Given the description of an element on the screen output the (x, y) to click on. 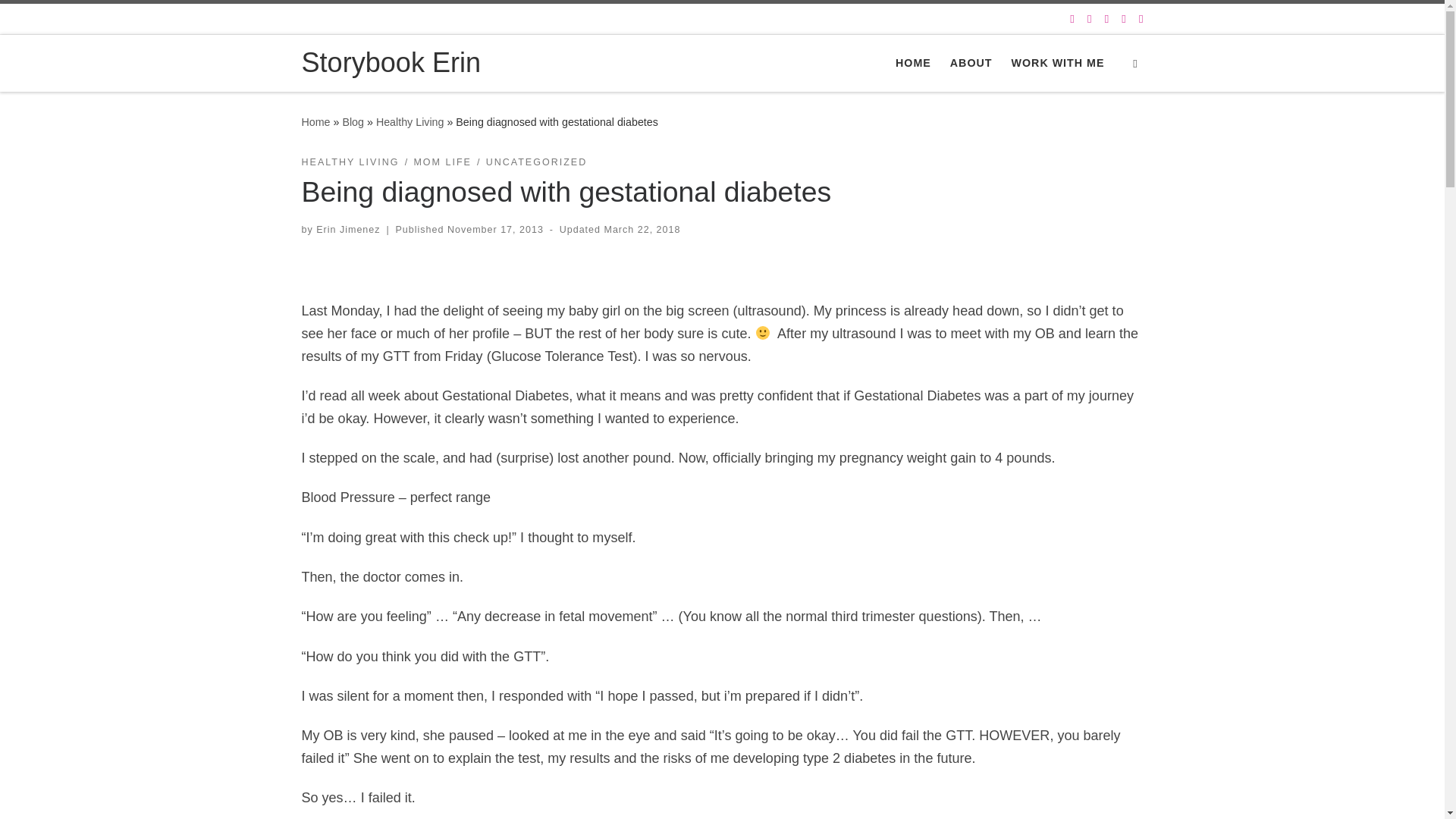
Storybook Erin (391, 62)
View all posts in Uncategorized (537, 162)
HEALTHY LIVING (349, 162)
Healthy Living (409, 121)
WORK WITH ME (1057, 63)
Healthy Living (409, 121)
Erin Jimenez (347, 229)
4:32 am (494, 229)
View all posts in Mom Life (442, 162)
Blog (353, 121)
UNCATEGORIZED (537, 162)
Home (315, 121)
HOME (913, 63)
View all posts in Healthy Living (349, 162)
View all posts by Erin Jimenez (347, 229)
